Given the description of an element on the screen output the (x, y) to click on. 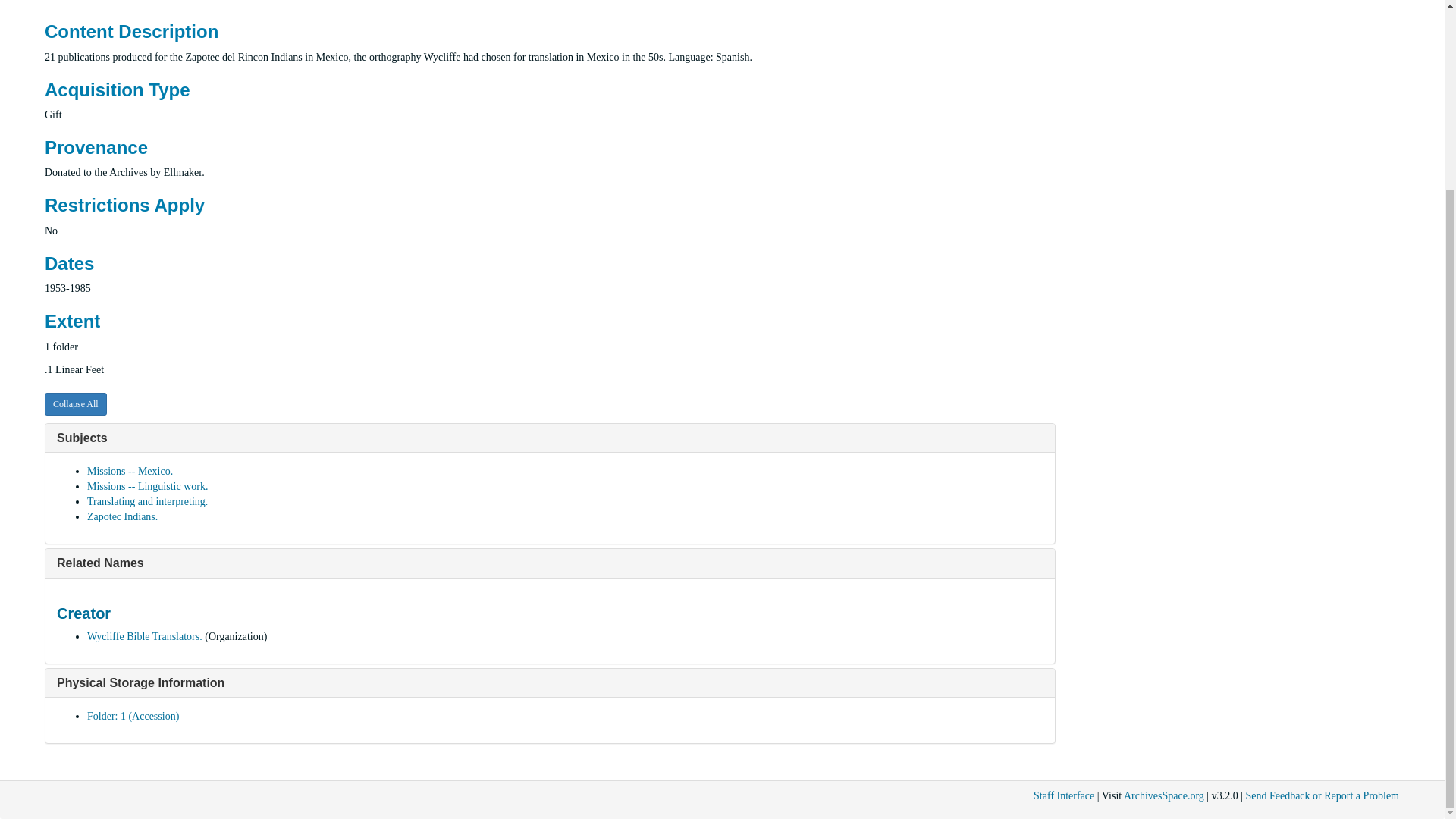
Collapse All (75, 404)
Missions -- Mexico. (130, 471)
Subjects (81, 437)
Translating and interpreting. (147, 501)
Send Feedback or Report a Problem (1321, 795)
Wycliffe Bible Translators. (144, 636)
ArchivesSpace.org (1164, 795)
Missions -- Linguistic work. (147, 486)
Staff Interface (1063, 795)
Related Names (100, 562)
